Given the description of an element on the screen output the (x, y) to click on. 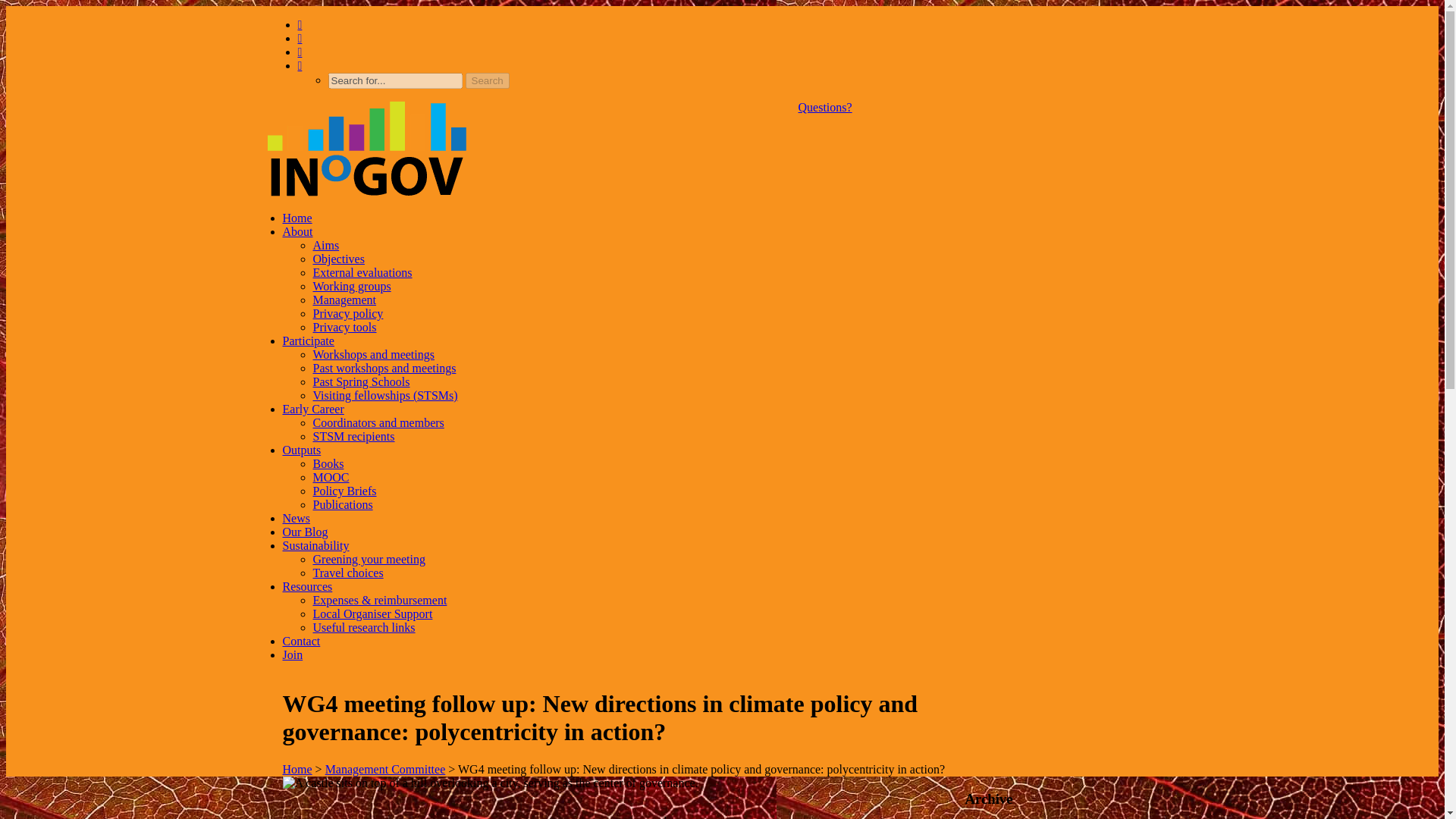
Useful research links (363, 626)
Policy Briefs (344, 490)
Past Spring Schools (361, 381)
Questions? (824, 106)
Objectives (338, 258)
Books (328, 463)
Greening your meeting (369, 558)
Search (487, 80)
Aims (326, 245)
Sustainability (315, 545)
